Given the description of an element on the screen output the (x, y) to click on. 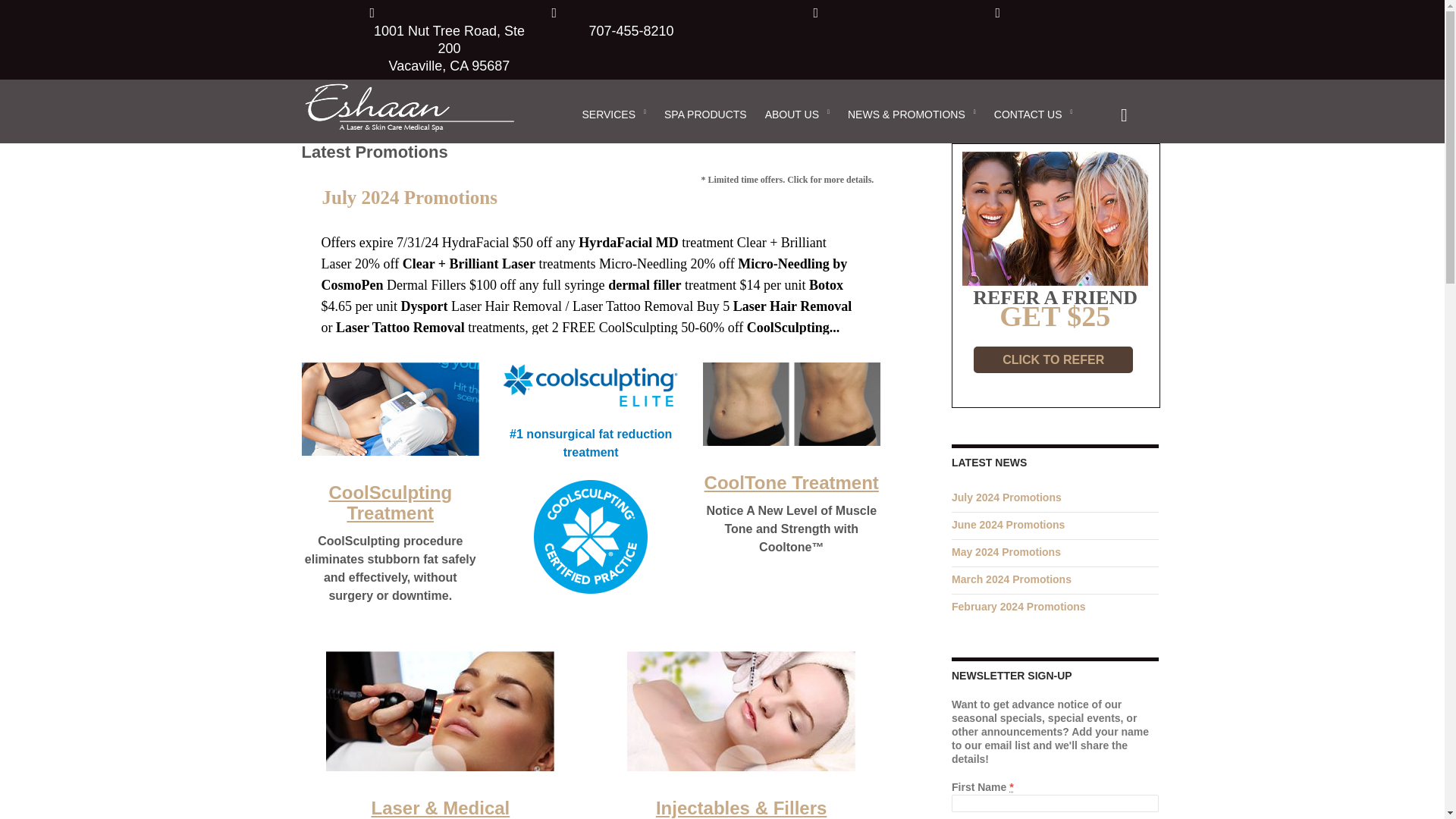
SERVICES (613, 112)
SPA PRODUCTS (705, 112)
July 2024 Promotions (587, 208)
ABOUT US (796, 112)
CONTACT US (1033, 112)
SKIP TO CONTENT (628, 86)
Eshaan Laser and Skincare Medical Spa (431, 97)
